Given the description of an element on the screen output the (x, y) to click on. 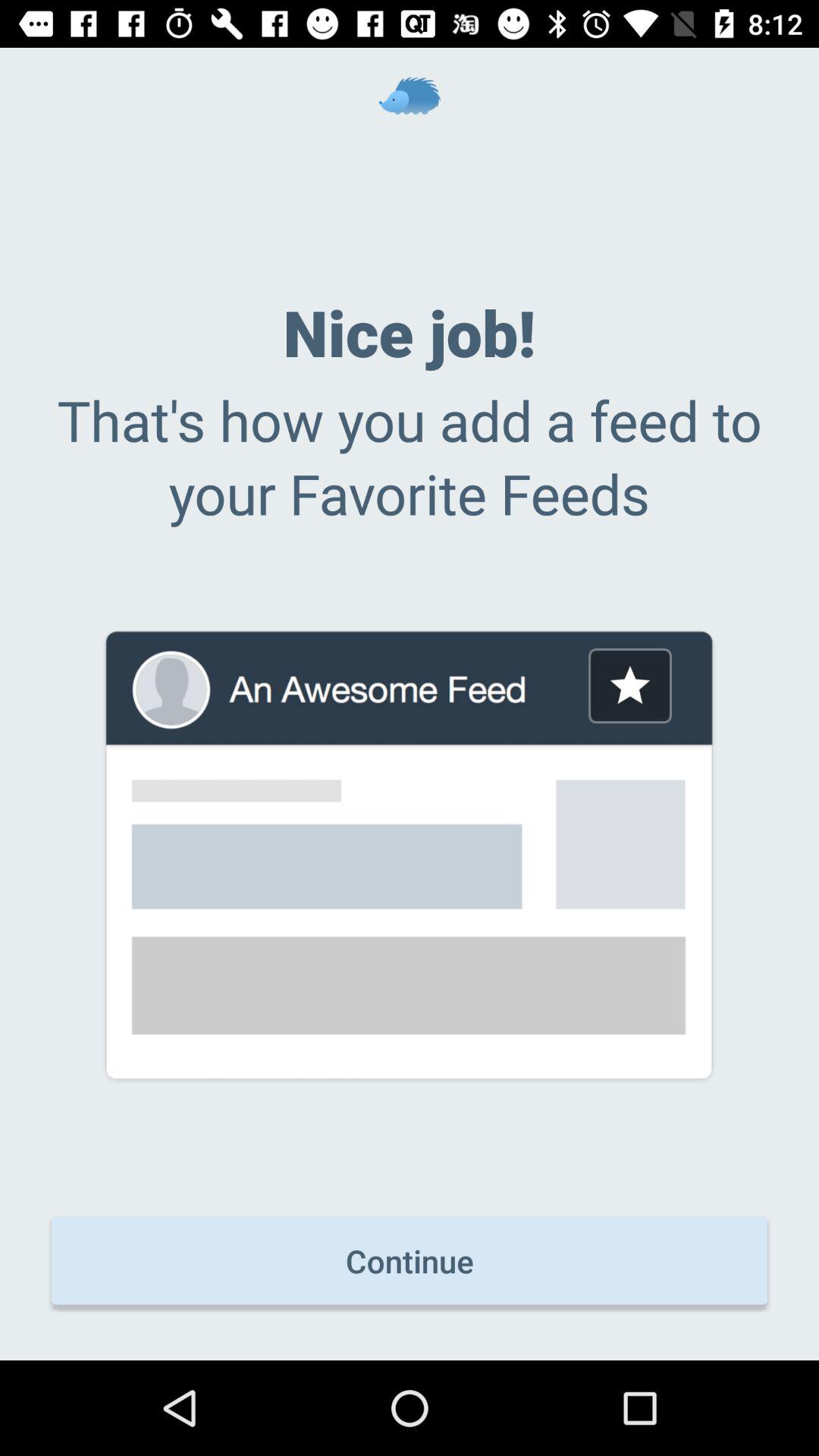
swipe to continue icon (409, 1260)
